Given the description of an element on the screen output the (x, y) to click on. 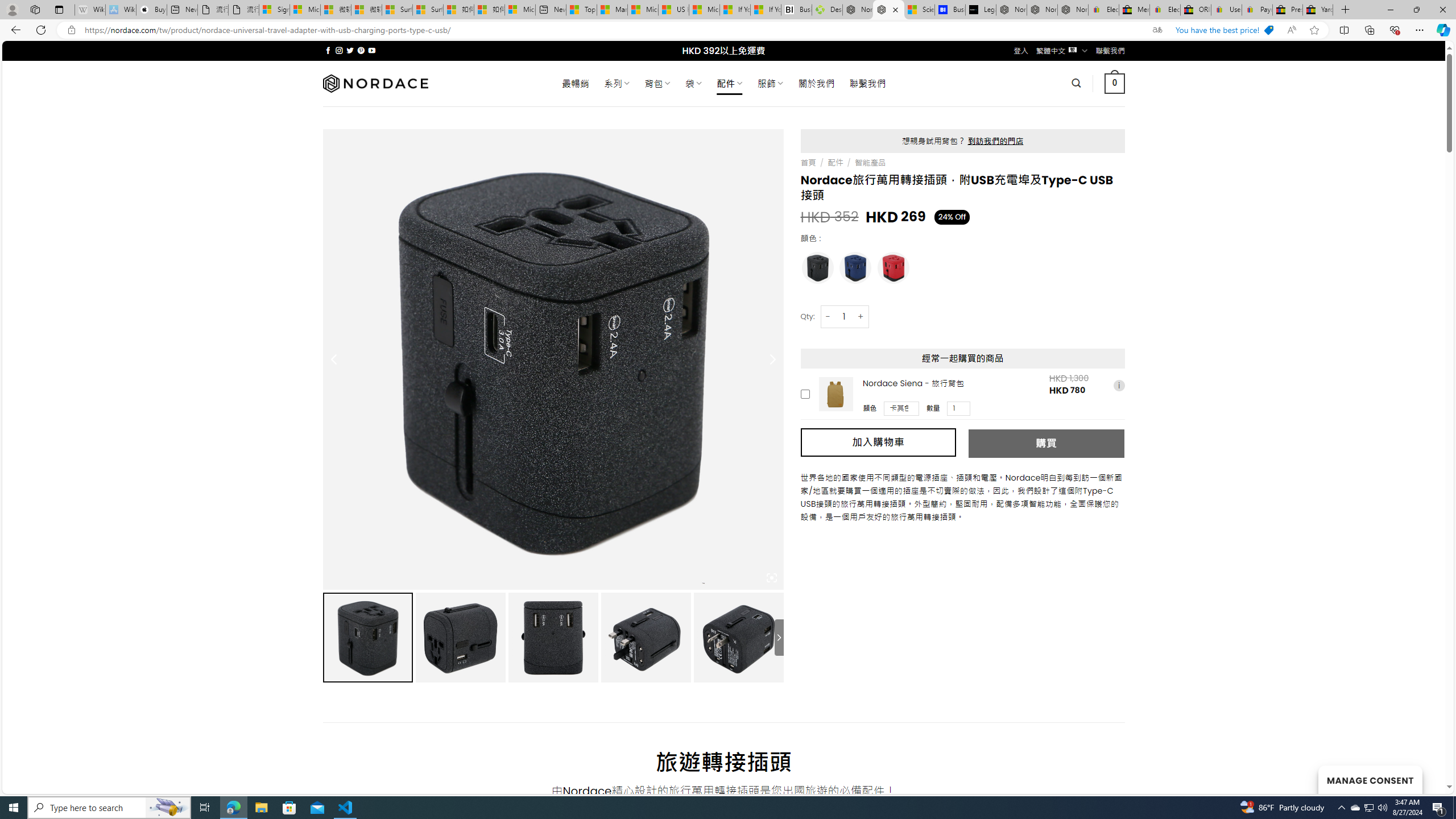
Payments Terms of Use | eBay.com (1256, 9)
Show translate options (1157, 29)
Descarga Driver Updater (826, 9)
i (1118, 385)
Microsoft account | Account Checkup (519, 9)
